Given the description of an element on the screen output the (x, y) to click on. 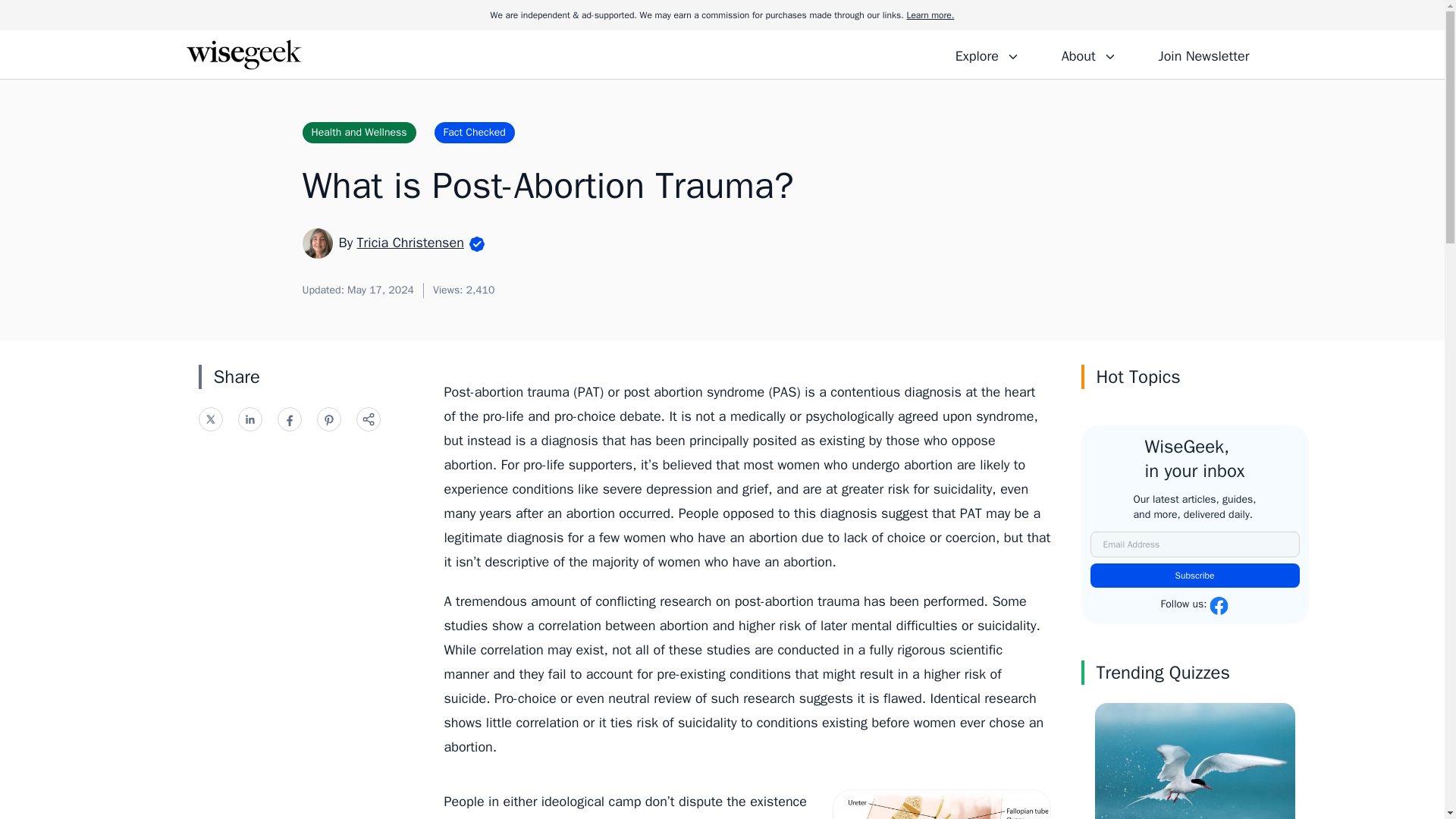
Learn more. (929, 15)
Health and Wellness (357, 132)
Subscribe (1195, 575)
Follow us: (1194, 606)
Explore (986, 54)
Tricia Christensen (410, 242)
Join Newsletter (1202, 54)
About (1088, 54)
Fact Checked (474, 132)
